Given the description of an element on the screen output the (x, y) to click on. 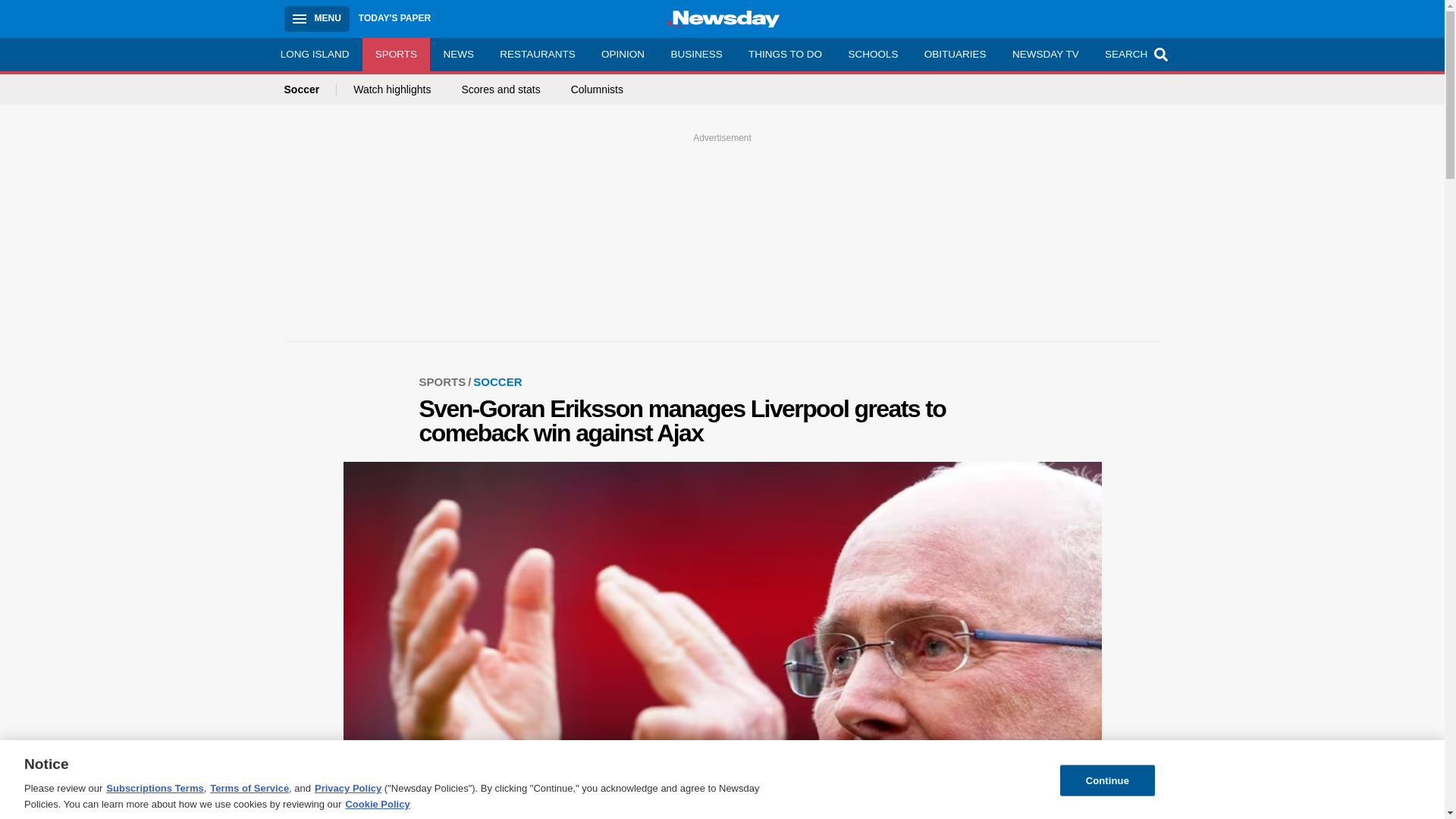
OBITUARIES (954, 54)
RESTAURANTS (537, 54)
Watch highlights (391, 89)
NEWSDAY TV (1045, 54)
MENU (316, 18)
SCHOOLS (872, 54)
SPORTS (396, 54)
TODAY'S PAPER (394, 18)
LONG ISLAND (313, 54)
NEWS (457, 54)
